Given the description of an element on the screen output the (x, y) to click on. 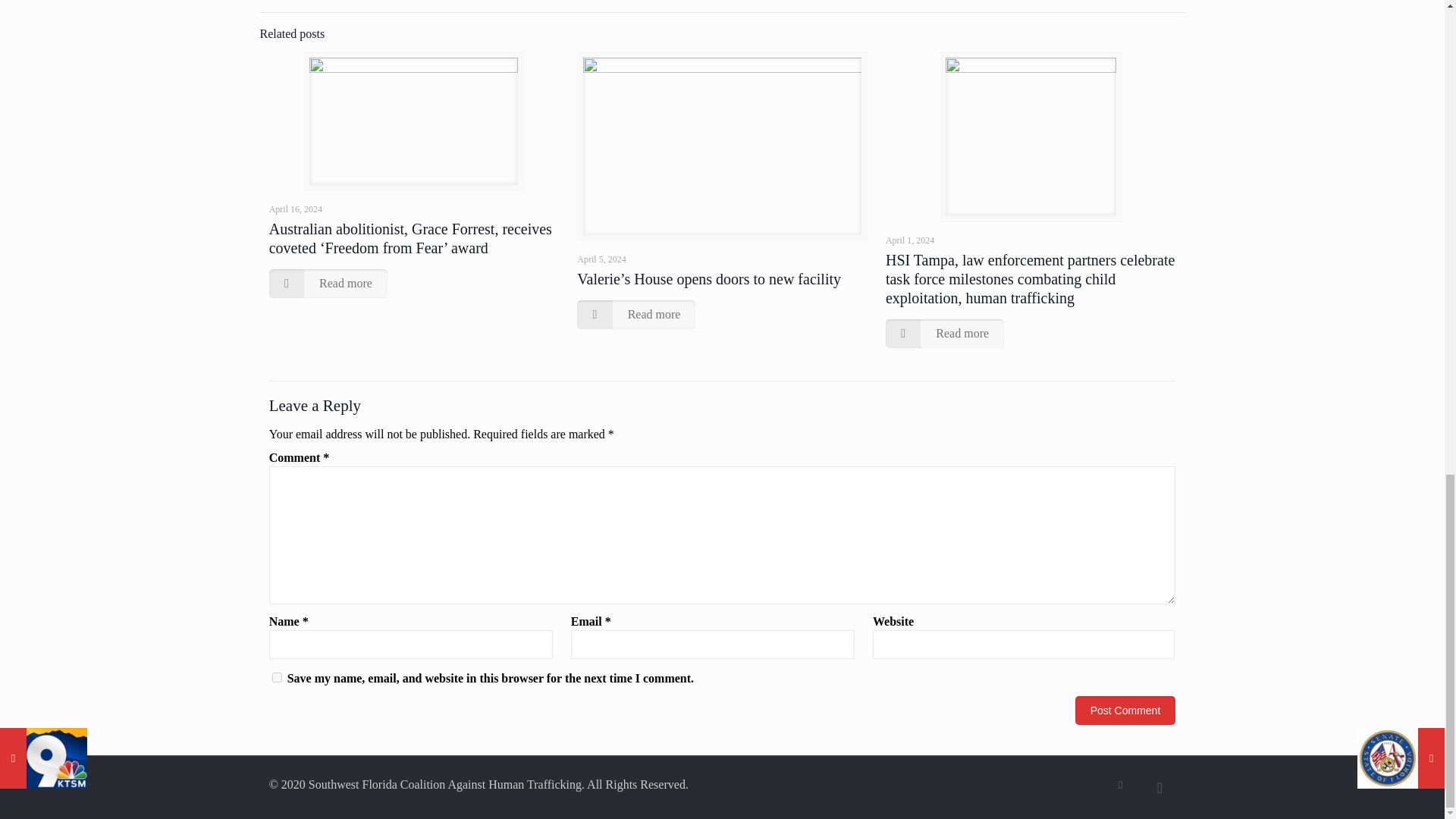
Facebook (1120, 784)
Read more (328, 283)
yes (277, 677)
Post Comment (1125, 710)
Read more (635, 314)
